Given the description of an element on the screen output the (x, y) to click on. 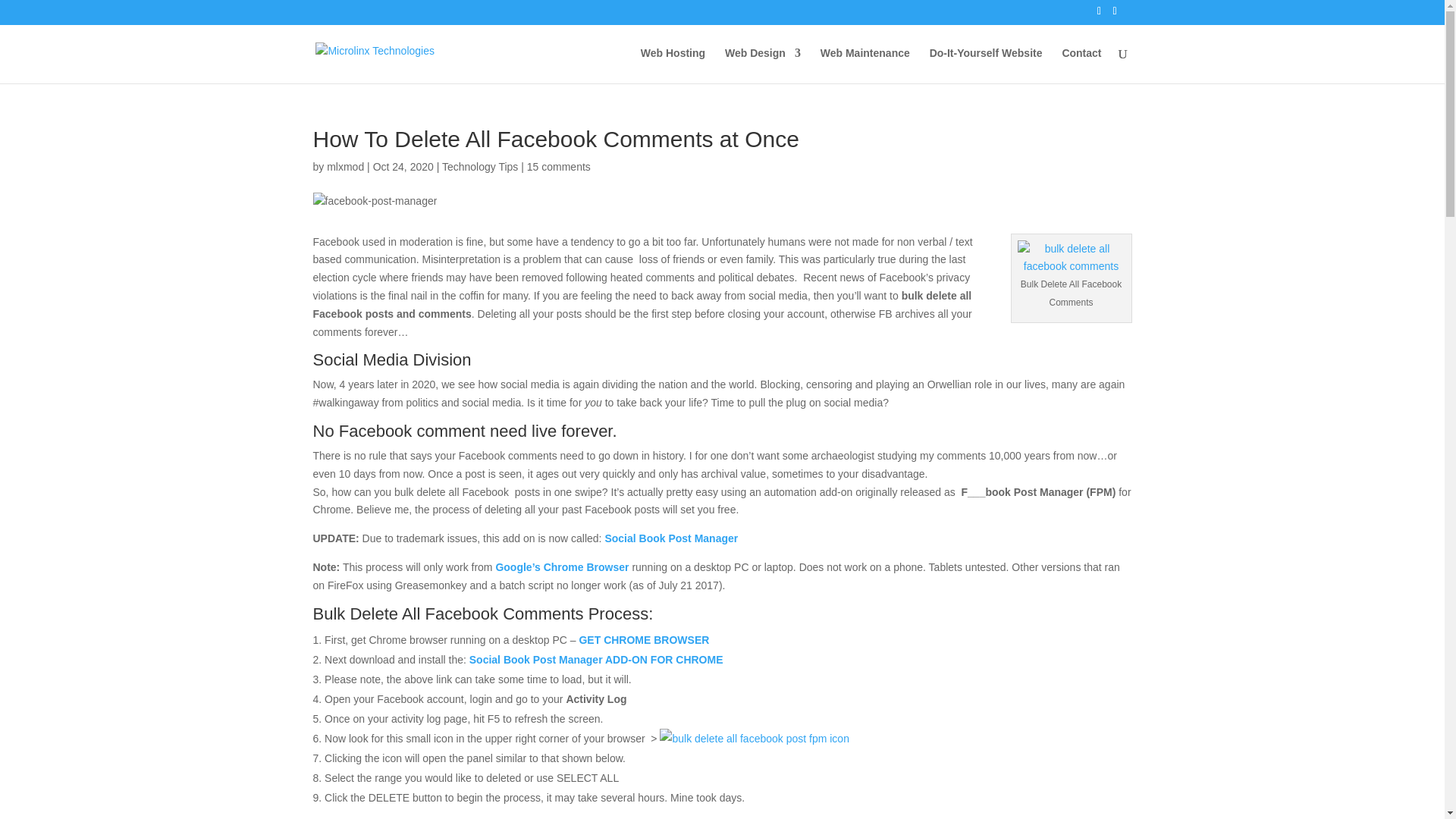
Posts by mlxmod (345, 166)
cleanup facebook posts (1071, 258)
Managed Web Maintenance (865, 65)
Web Design (762, 65)
Web Maintenance (865, 65)
Technology Tips (480, 166)
Affordable Website Hosting Solutions (672, 65)
Secure, Mobile Responsive Website Design Services (762, 65)
Web Hosting (672, 65)
fbm icon used to bulk delete all facebook posts (753, 738)
